Given the description of an element on the screen output the (x, y) to click on. 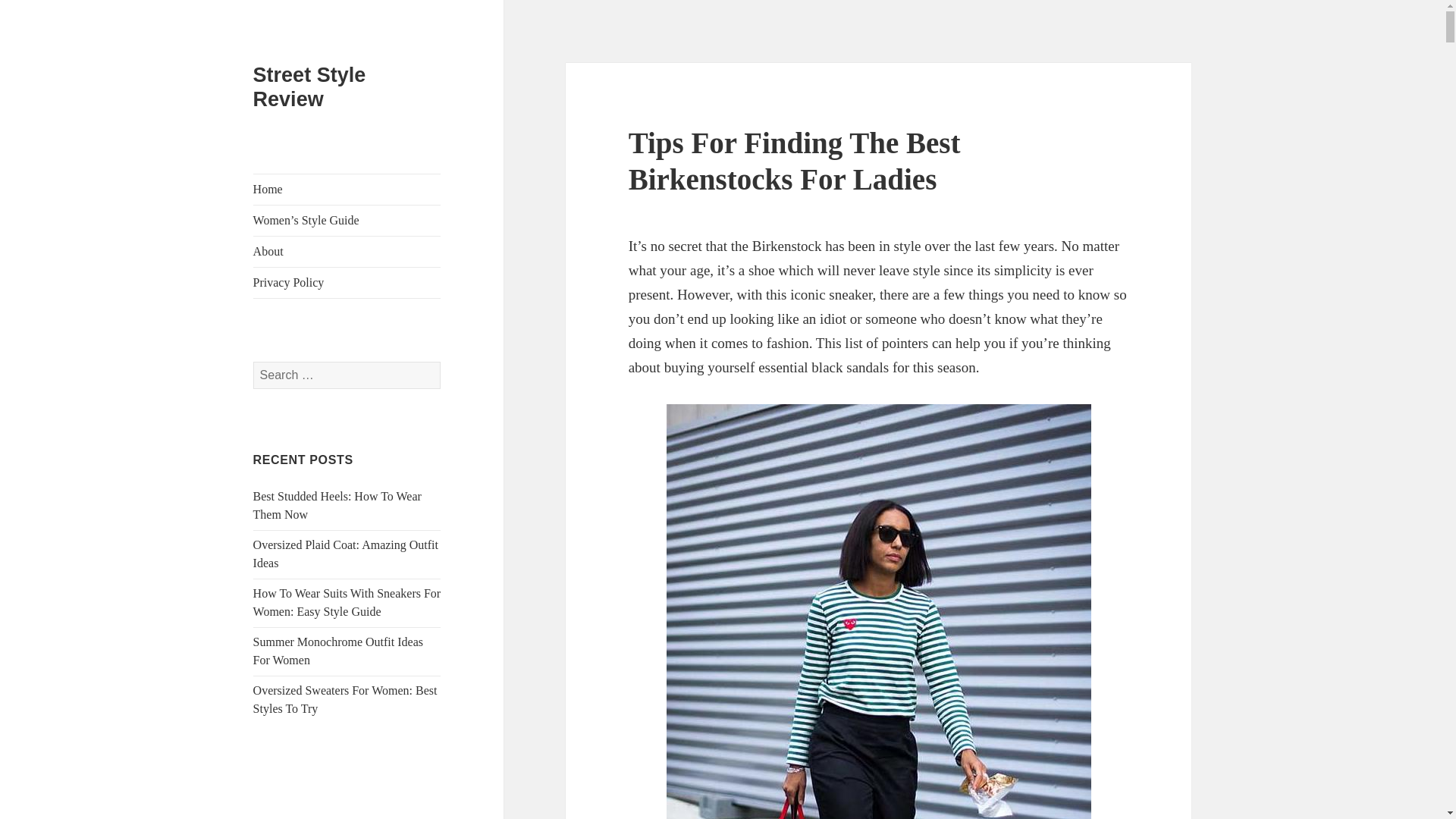
Best Studded Heels: How To Wear Them Now (337, 504)
Oversized Plaid Coat: Amazing Outfit Ideas (345, 553)
Privacy Policy (347, 282)
Home (347, 189)
Summer Monochrome Outfit Ideas For Women (338, 650)
Oversized Sweaters For Women: Best Styles To Try (345, 698)
About (347, 251)
Street Style Review (309, 86)
How To Wear Suits With Sneakers For Women: Easy Style Guide (347, 602)
